Given the description of an element on the screen output the (x, y) to click on. 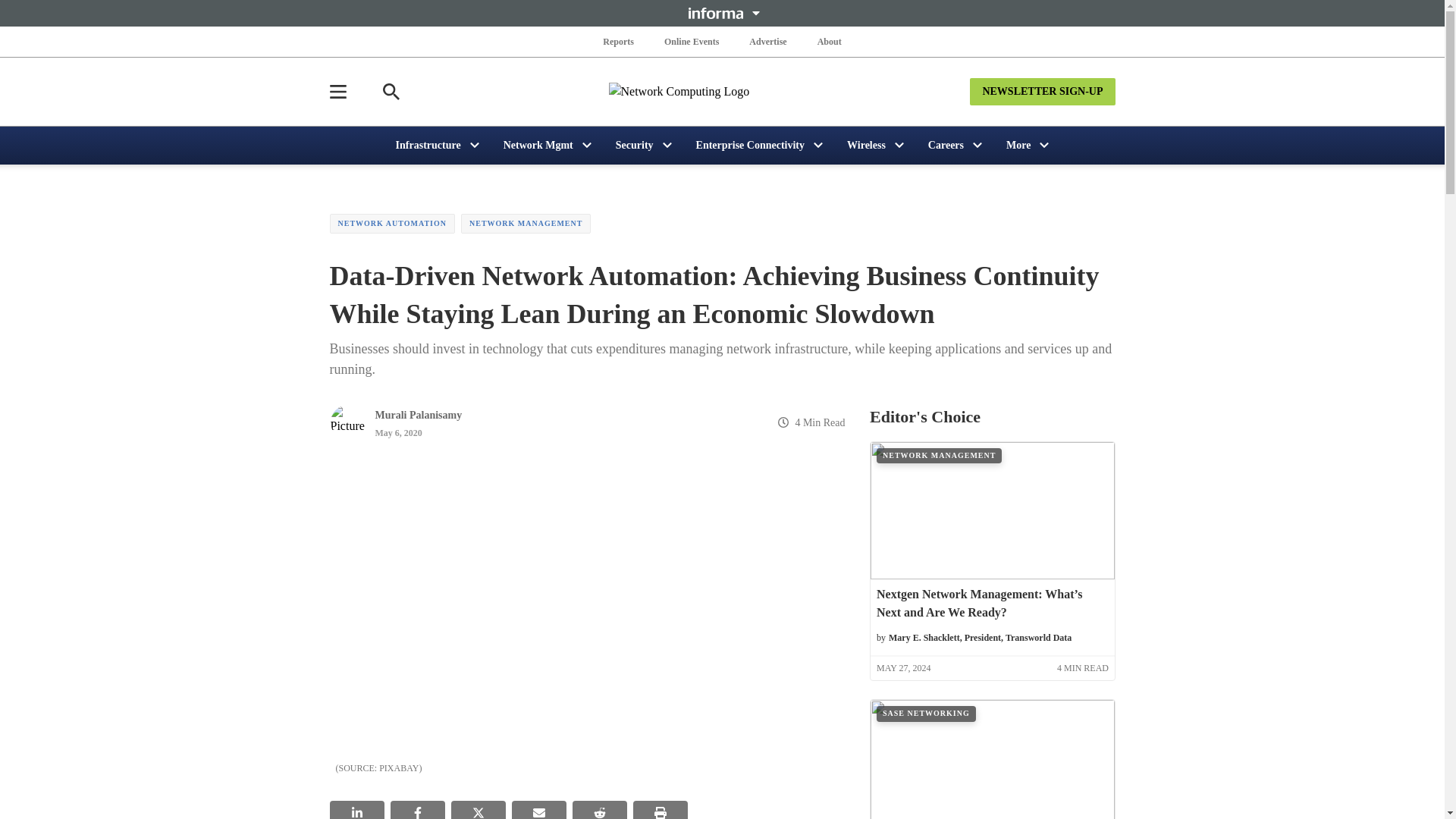
NEWSLETTER SIGN-UP (1042, 90)
Picture of Murali Palanisamy (347, 422)
Online Events (691, 41)
Advertise (767, 41)
Network Computing Logo (721, 91)
Reports (618, 41)
About (828, 41)
